Given the description of an element on the screen output the (x, y) to click on. 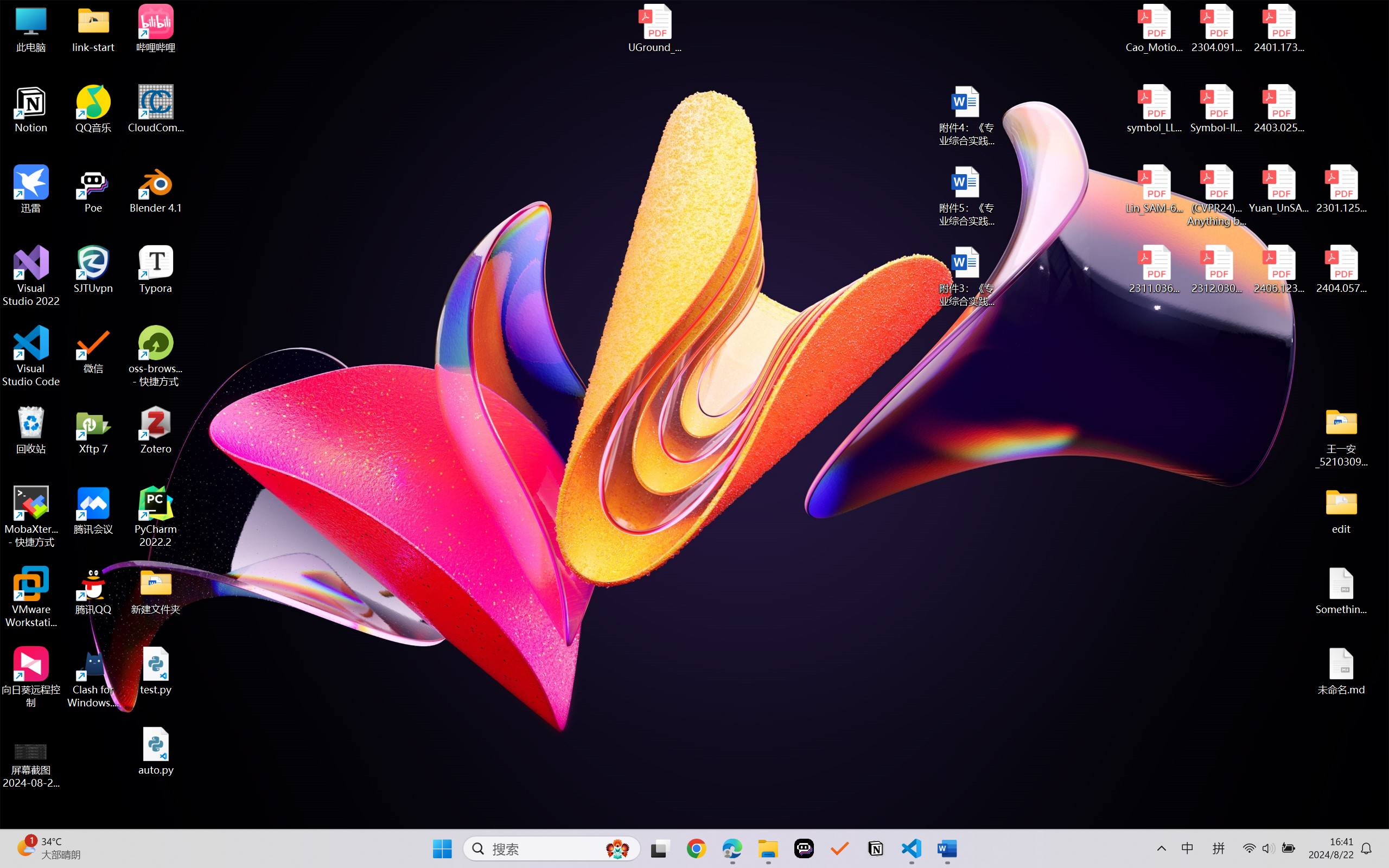
(CVPR24)Matching Anything by Segmenting Anything.pdf (1216, 195)
Blender 4.1 (156, 189)
2404.05719v1.pdf (1340, 269)
CloudCompare (156, 109)
Poe (804, 848)
2311.03658v2.pdf (1154, 269)
